Given the description of an element on the screen output the (x, y) to click on. 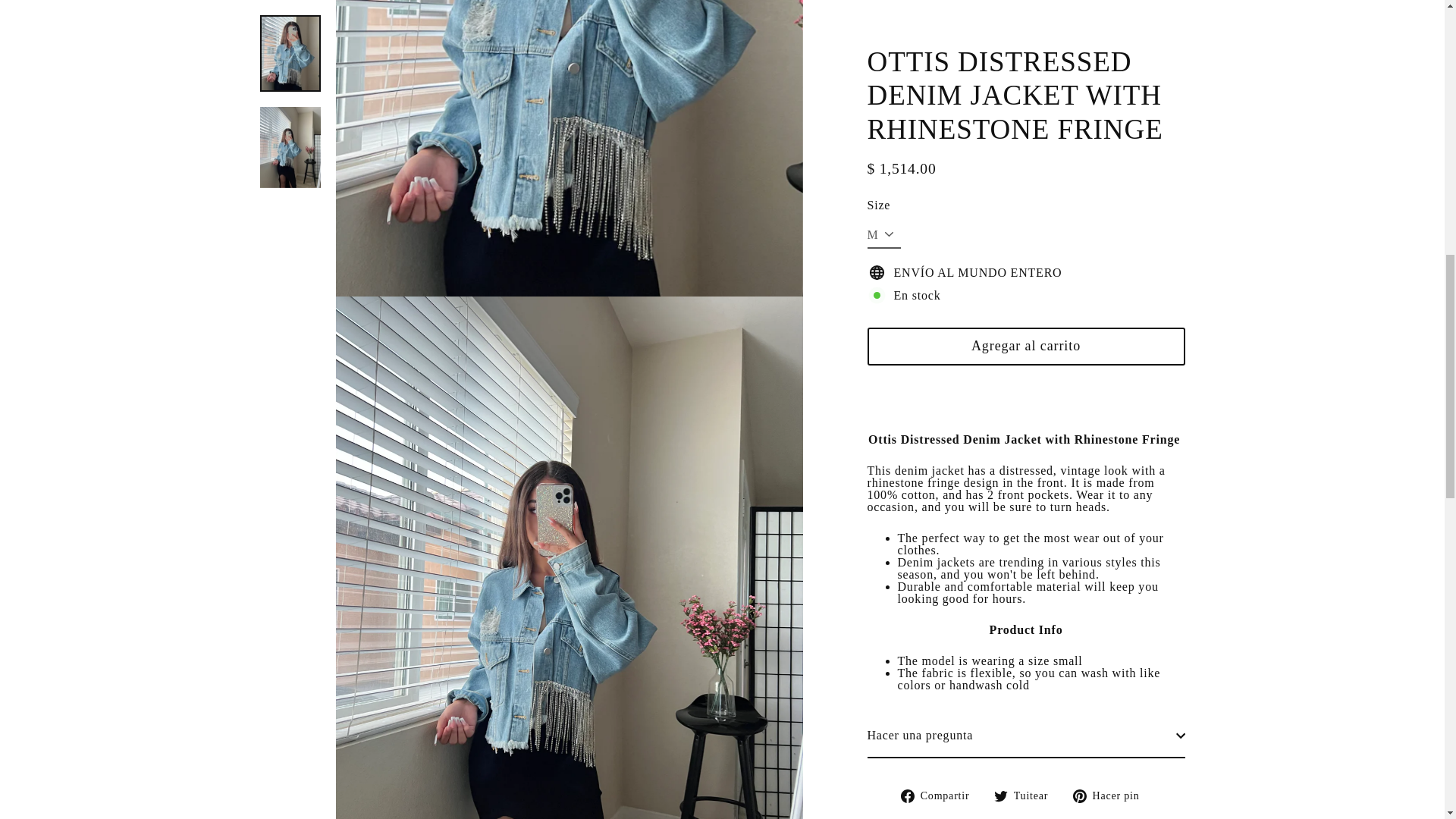
Compartir en Facebook (940, 500)
Tuitear en Twitter (1026, 500)
Pinear en Pinterest (1111, 500)
